Given the description of an element on the screen output the (x, y) to click on. 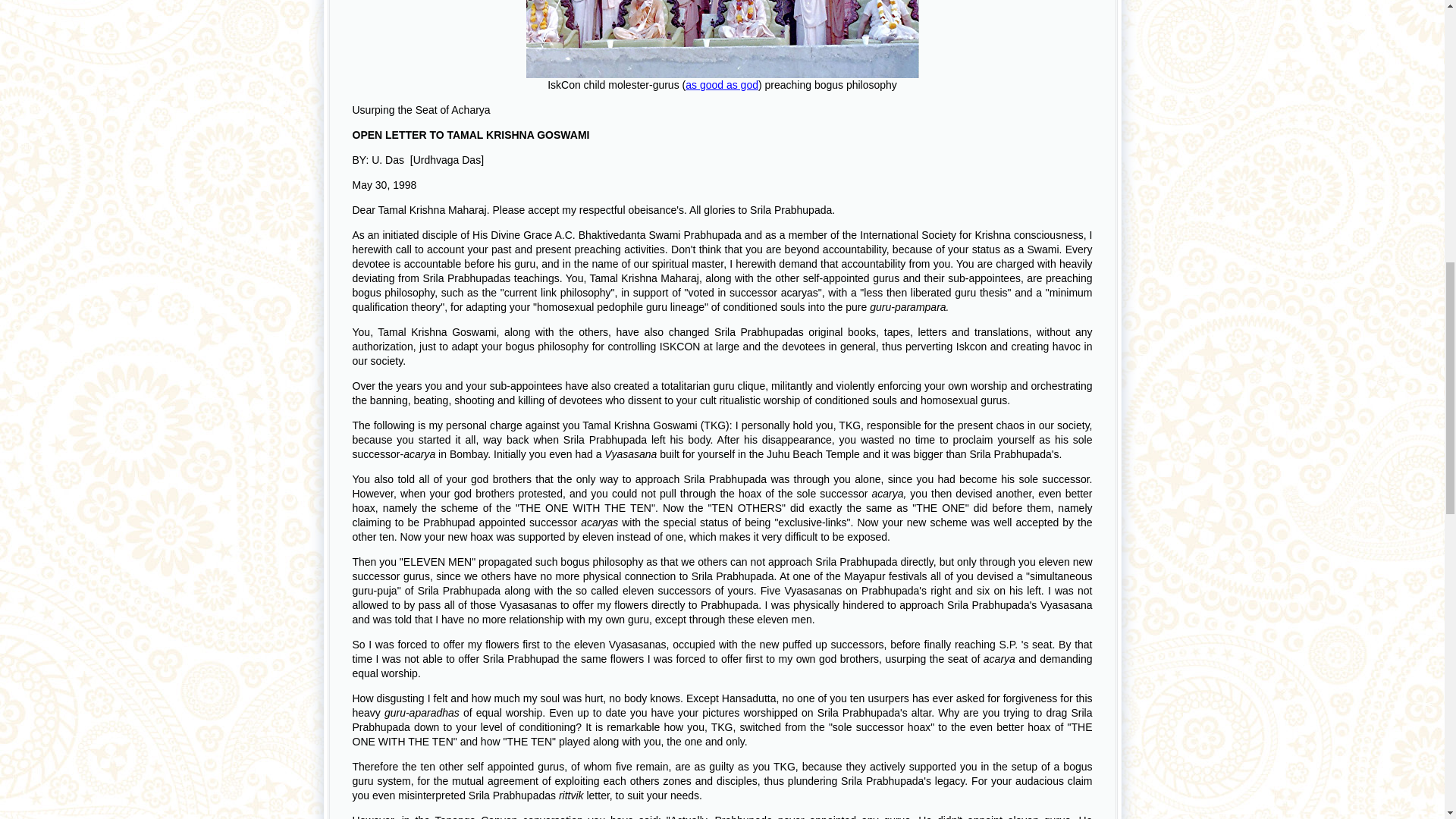
as good as god (721, 84)
